Given the description of an element on the screen output the (x, y) to click on. 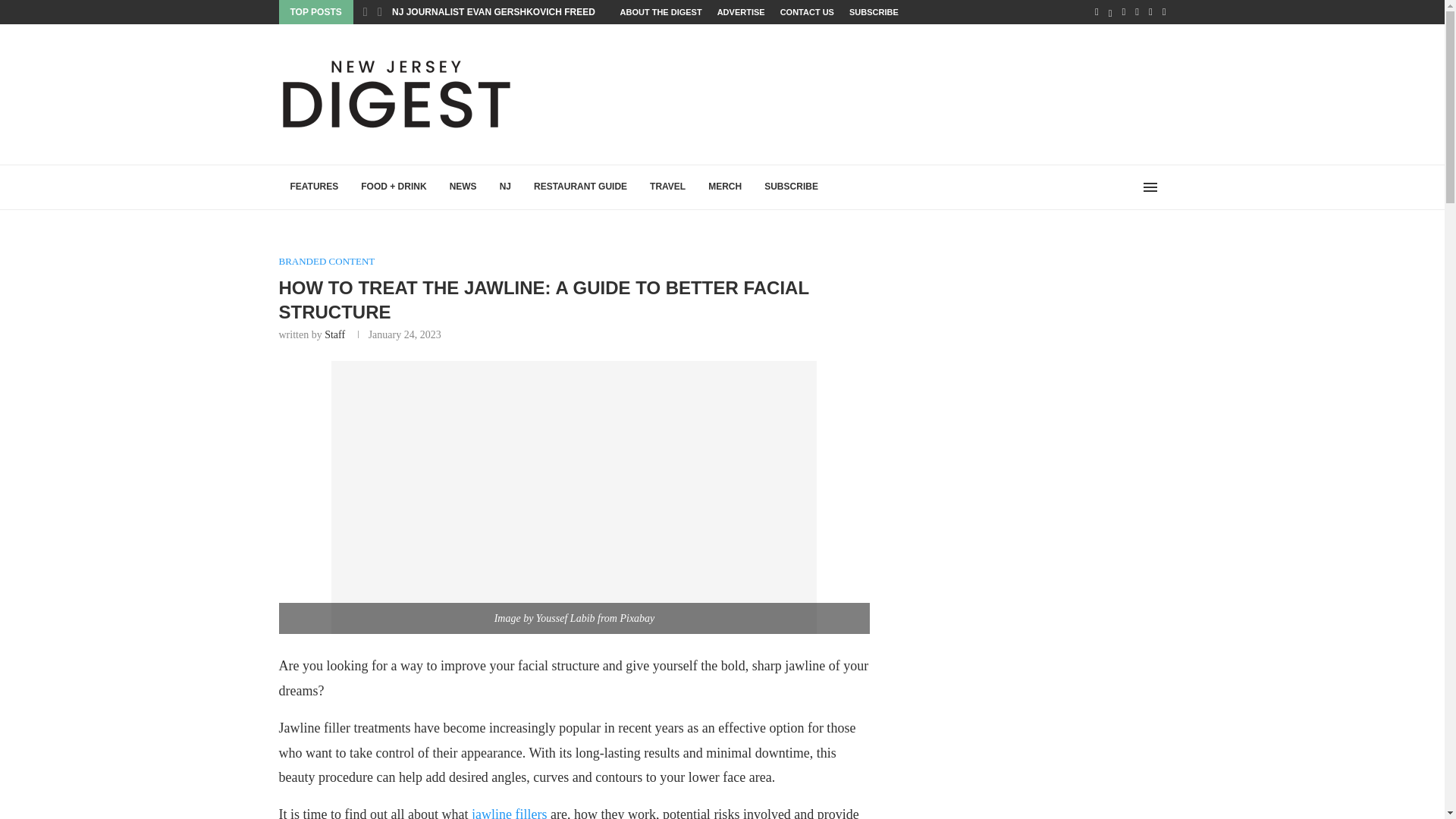
MERCH (724, 186)
Staff (334, 334)
NJ JOURNALIST EVAN GERSHKOVICH FREED AFTER DETENTION IN... (546, 11)
jawline fillers (509, 812)
CONTACT US (807, 12)
ADVERTISE (741, 12)
BRANDED CONTENT (327, 261)
TRAVEL (668, 186)
RESTAURANT GUIDE (580, 186)
FEATURES (314, 186)
ABOUT THE DIGEST (660, 12)
SUBSCRIBE (873, 12)
NEWS (462, 186)
SUBSCRIBE (790, 186)
